Given the description of an element on the screen output the (x, y) to click on. 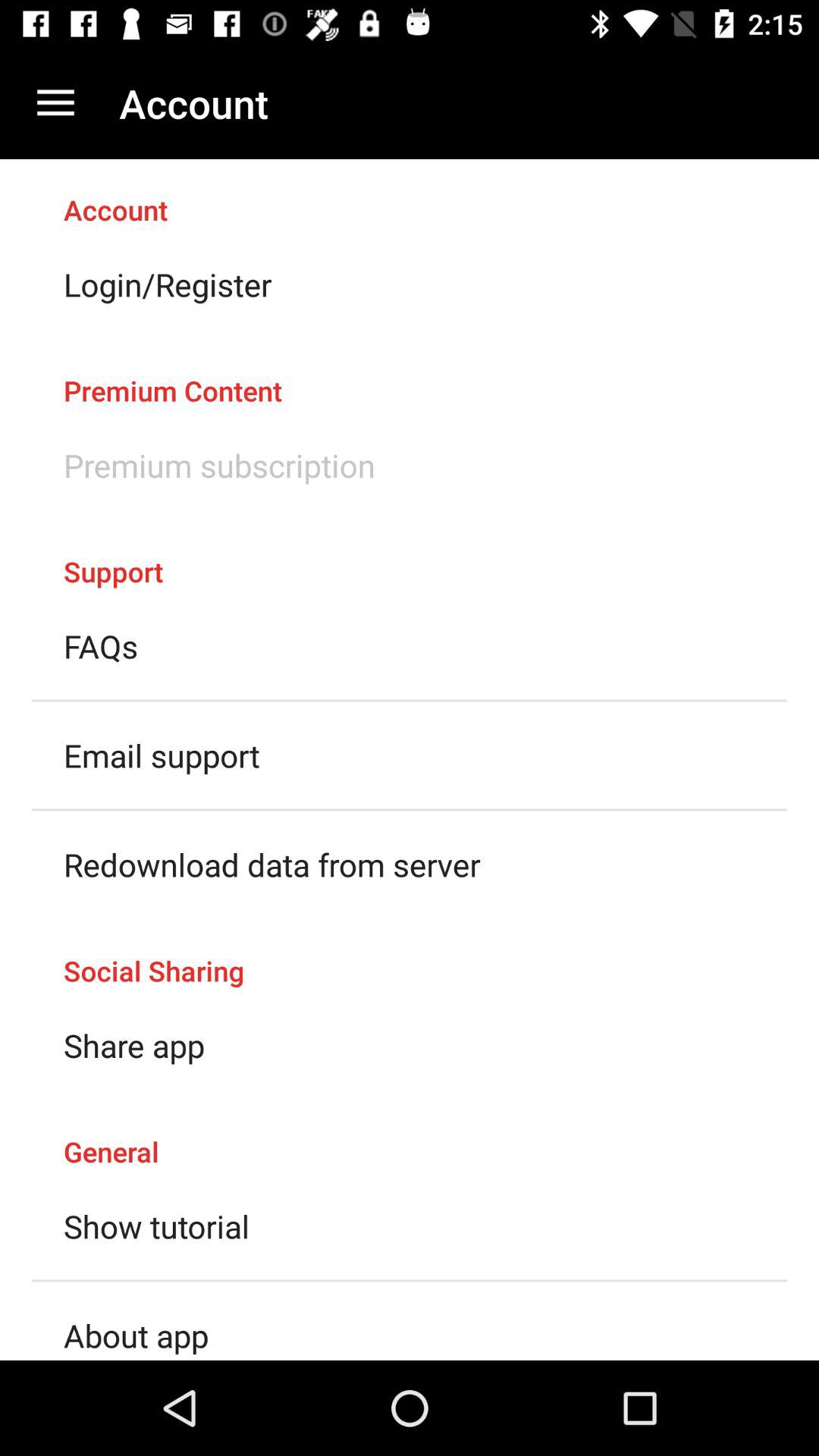
choose the redownload data from icon (271, 864)
